Given the description of an element on the screen output the (x, y) to click on. 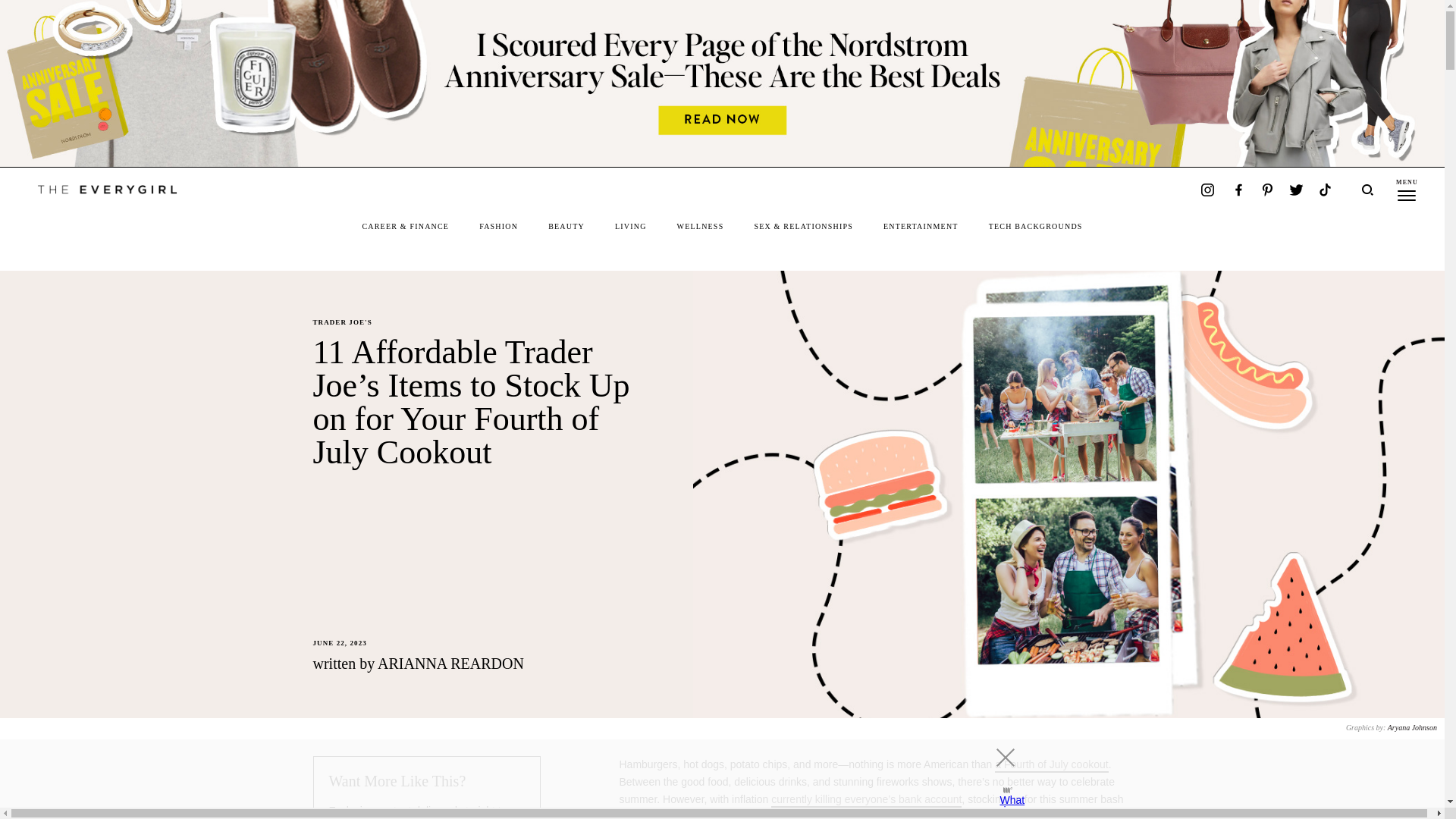
LIVING (630, 226)
FASHION (498, 226)
3rd party ad content (708, 773)
Instagram (1206, 189)
The Everygirl (113, 190)
BEAUTY (566, 226)
